Given the description of an element on the screen output the (x, y) to click on. 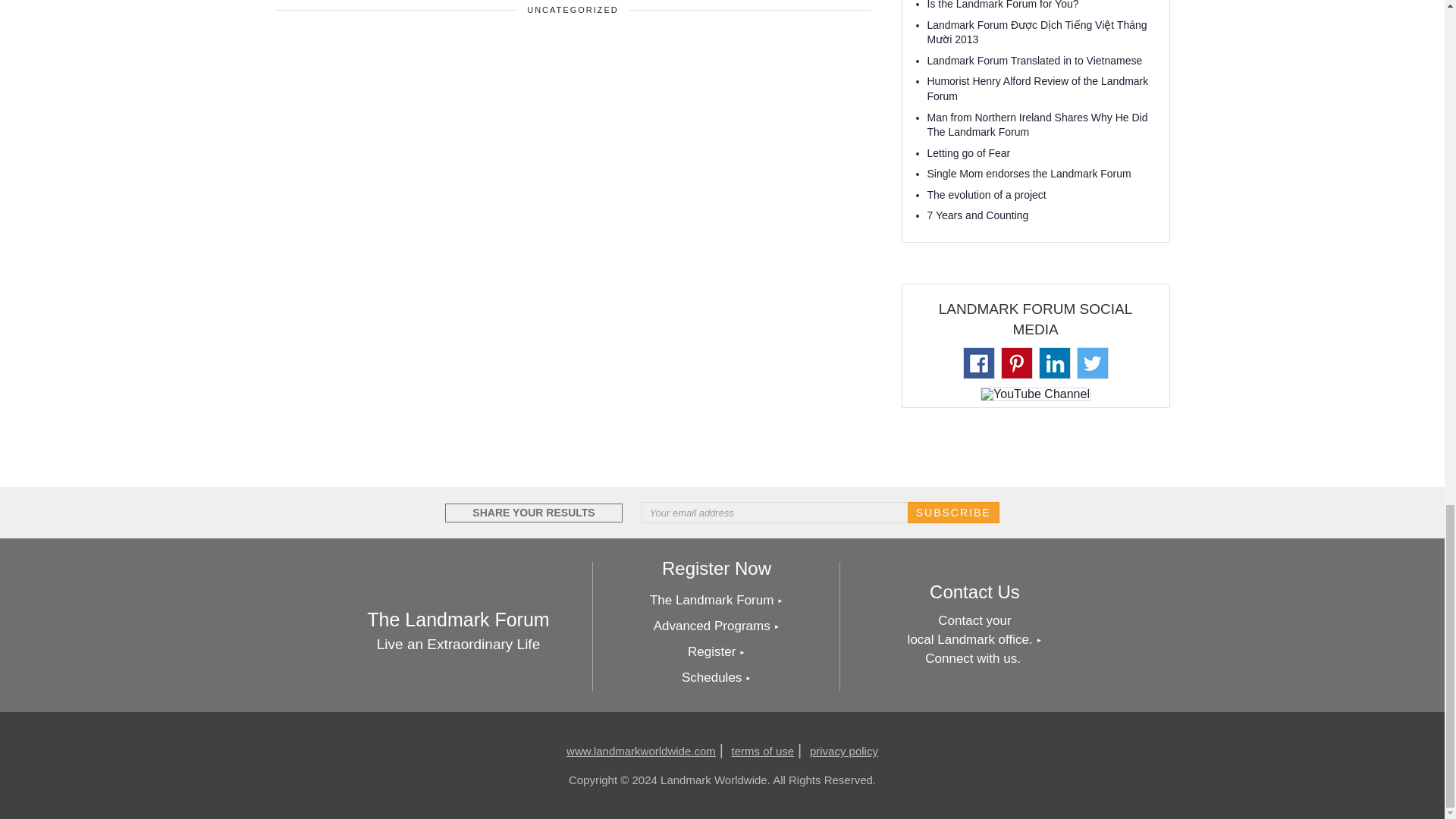
Subscribe (952, 512)
Landmark Forum Translated in to Vietnamese (1033, 60)
Single Mom endorses the Landmark Forum (1028, 173)
Is the Landmark Forum for You? (1002, 4)
Humorist Henry Alford Review of the Landmark Forum (1037, 88)
UNCATEGORIZED (572, 9)
Facebook (978, 364)
Letting go of Fear (968, 152)
The evolution of a project (985, 194)
LinkedIn Company (1054, 364)
YouTube Channel (1034, 395)
7 Years and Counting (976, 215)
Twitter (1093, 364)
Pinterest (1016, 364)
